Given the description of an element on the screen output the (x, y) to click on. 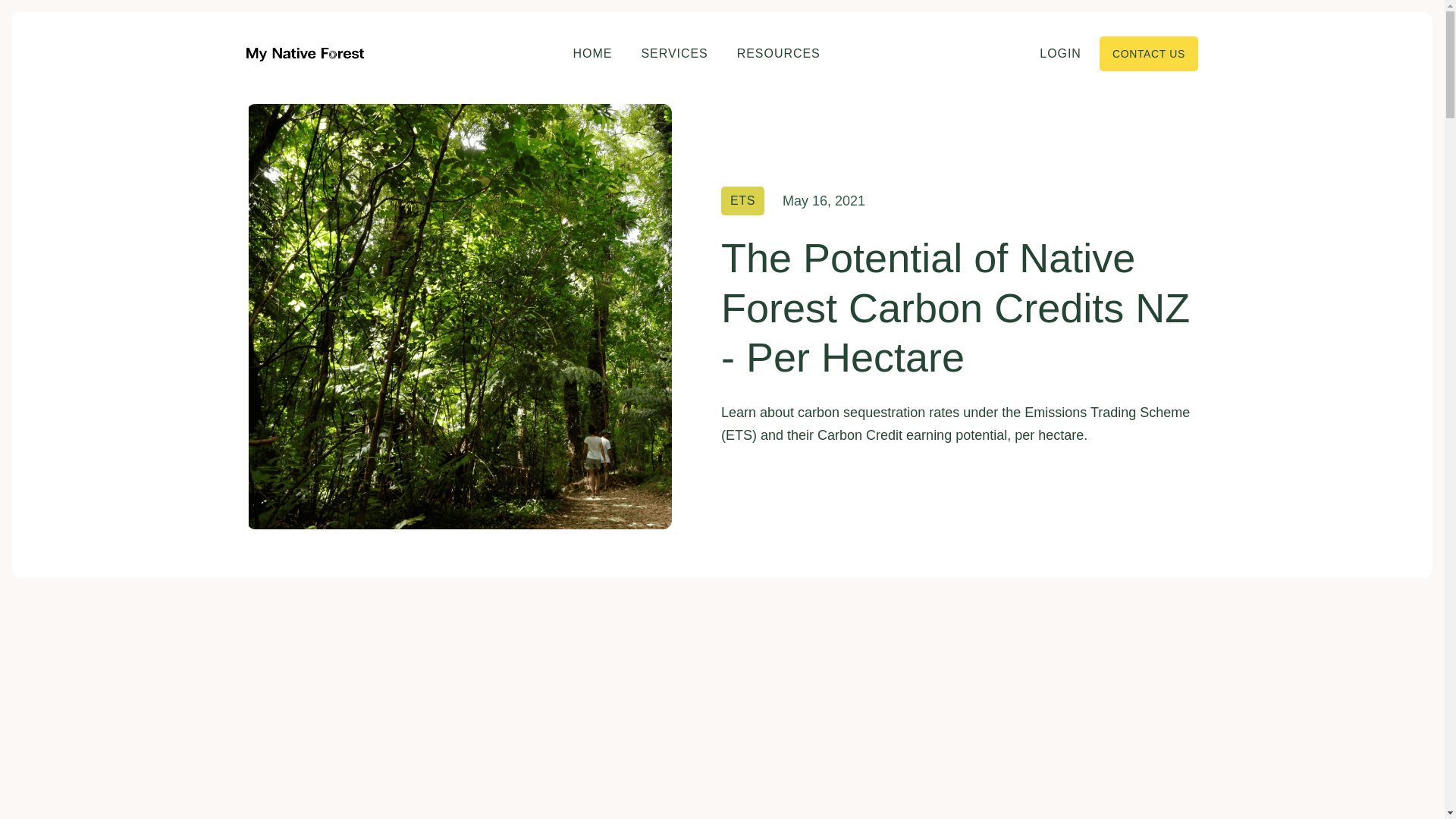
ETS (742, 200)
LOGIN (1060, 53)
HOME (592, 53)
CONTACT US (1148, 53)
